Given the description of an element on the screen output the (x, y) to click on. 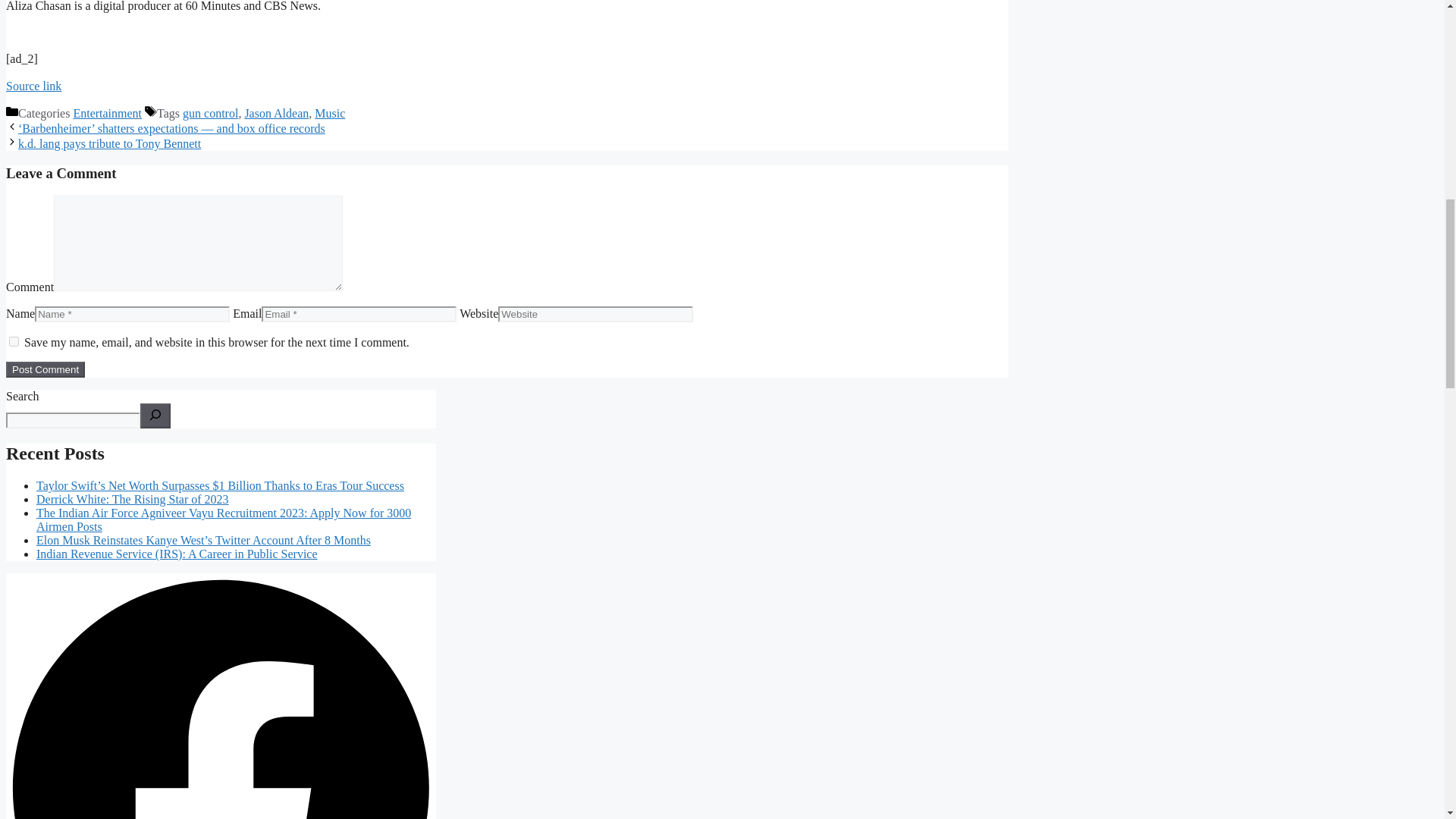
k.d. lang pays tribute to Tony Bennett (108, 143)
Post Comment (44, 369)
Music (329, 113)
yes (13, 341)
Entertainment (106, 113)
Source link (33, 85)
Jason Aldean (276, 113)
gun control (210, 113)
Post Comment (44, 369)
Derrick White: The Rising Star of 2023 (132, 499)
